Given the description of an element on the screen output the (x, y) to click on. 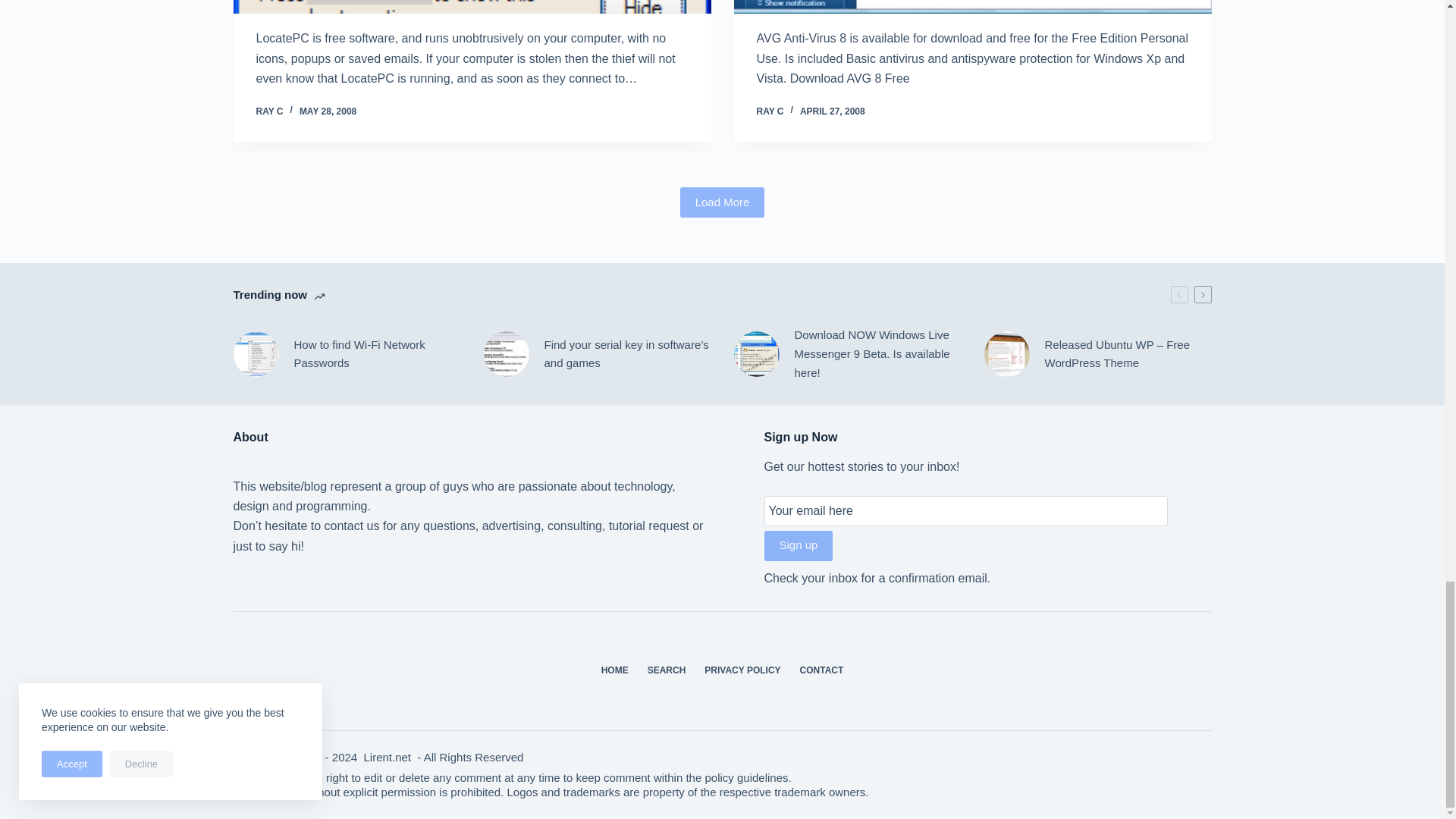
Posts by Ray C (269, 111)
Your email here (965, 511)
Your email here (965, 511)
Posts by Ray C (770, 111)
